Given the description of an element on the screen output the (x, y) to click on. 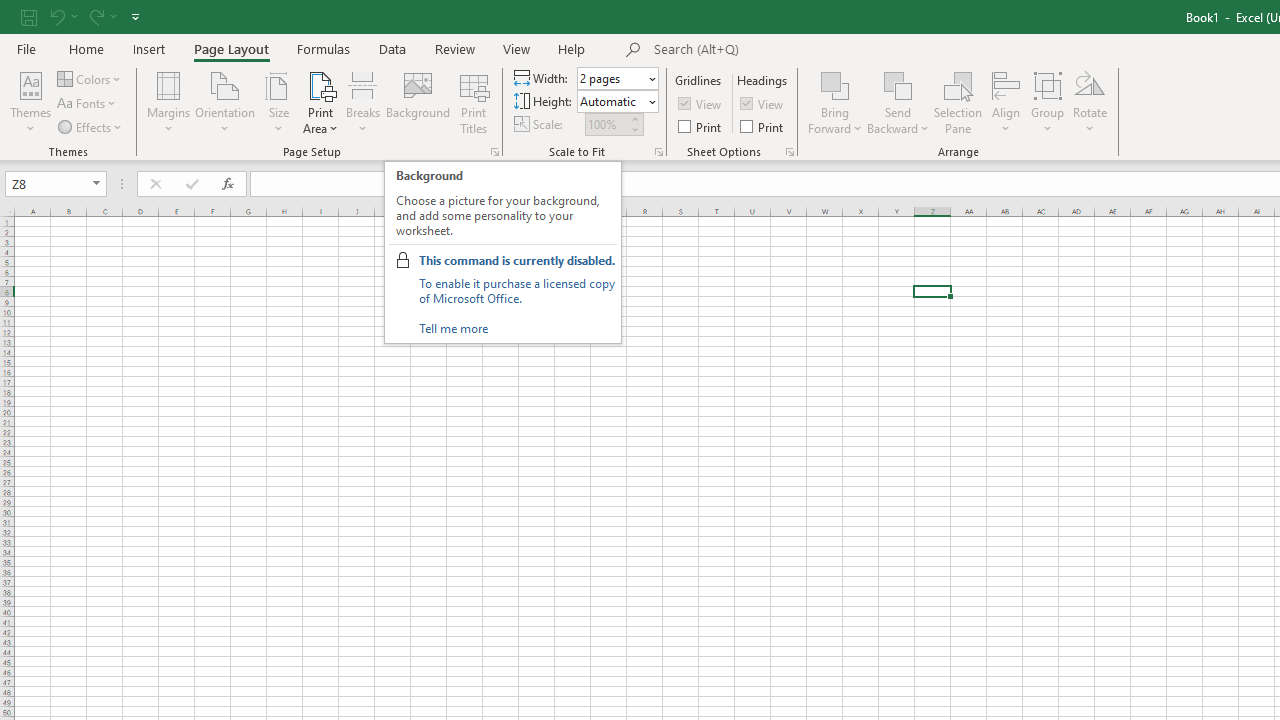
Print Titles (474, 102)
Send Backward (898, 84)
Breaks (362, 102)
Scale (605, 124)
Themes (30, 102)
Print Area (320, 102)
Align (1005, 102)
Fonts (87, 103)
